Given the description of an element on the screen output the (x, y) to click on. 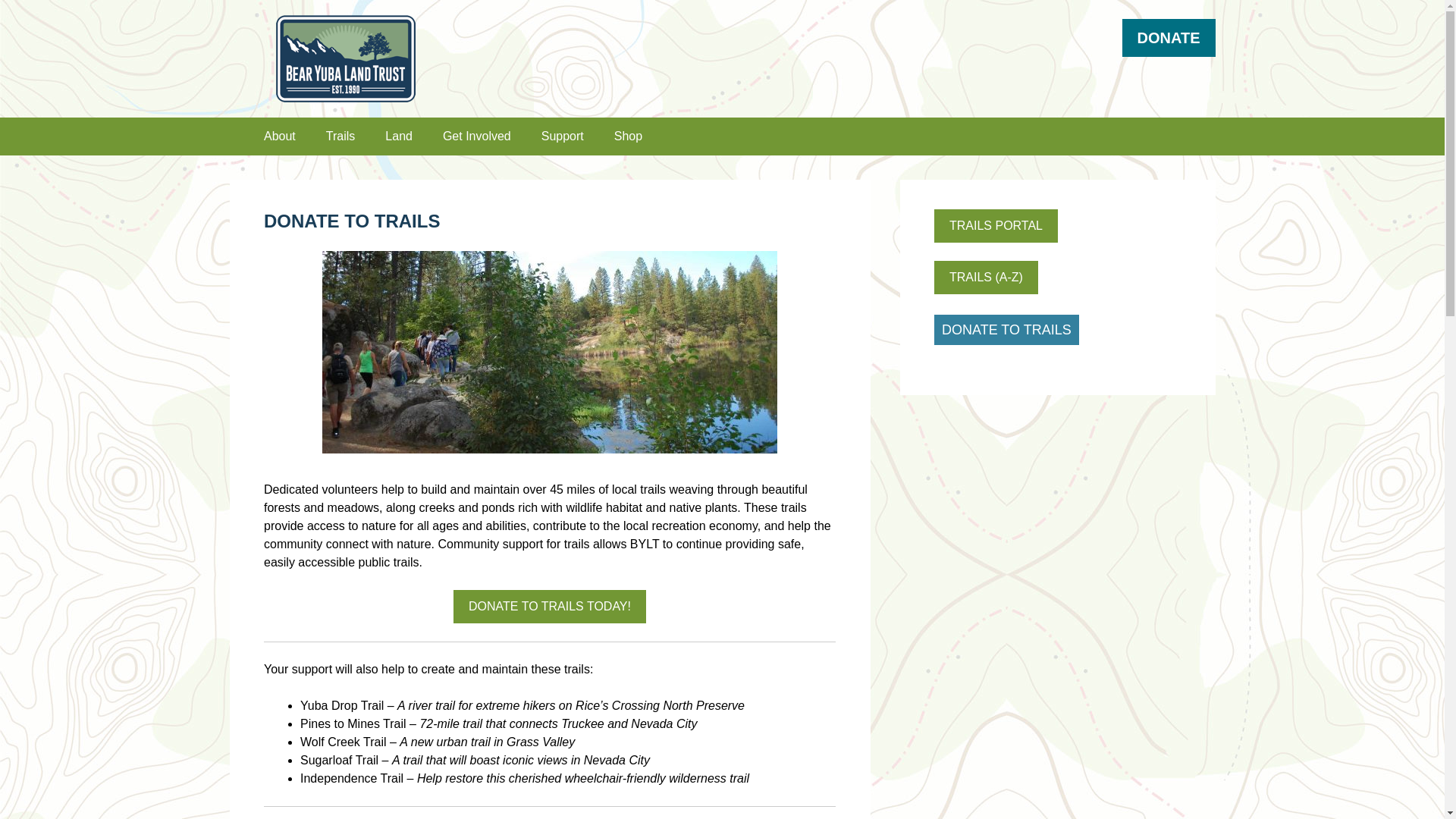
Get Involved (476, 136)
Trails (340, 136)
About (279, 136)
DONATE TO TRAILS TODAY! (549, 606)
Donate (549, 606)
Shop (628, 136)
Trails Portal (996, 225)
Land (398, 136)
DONATE (1168, 37)
Support (1168, 37)
